Given the description of an element on the screen output the (x, y) to click on. 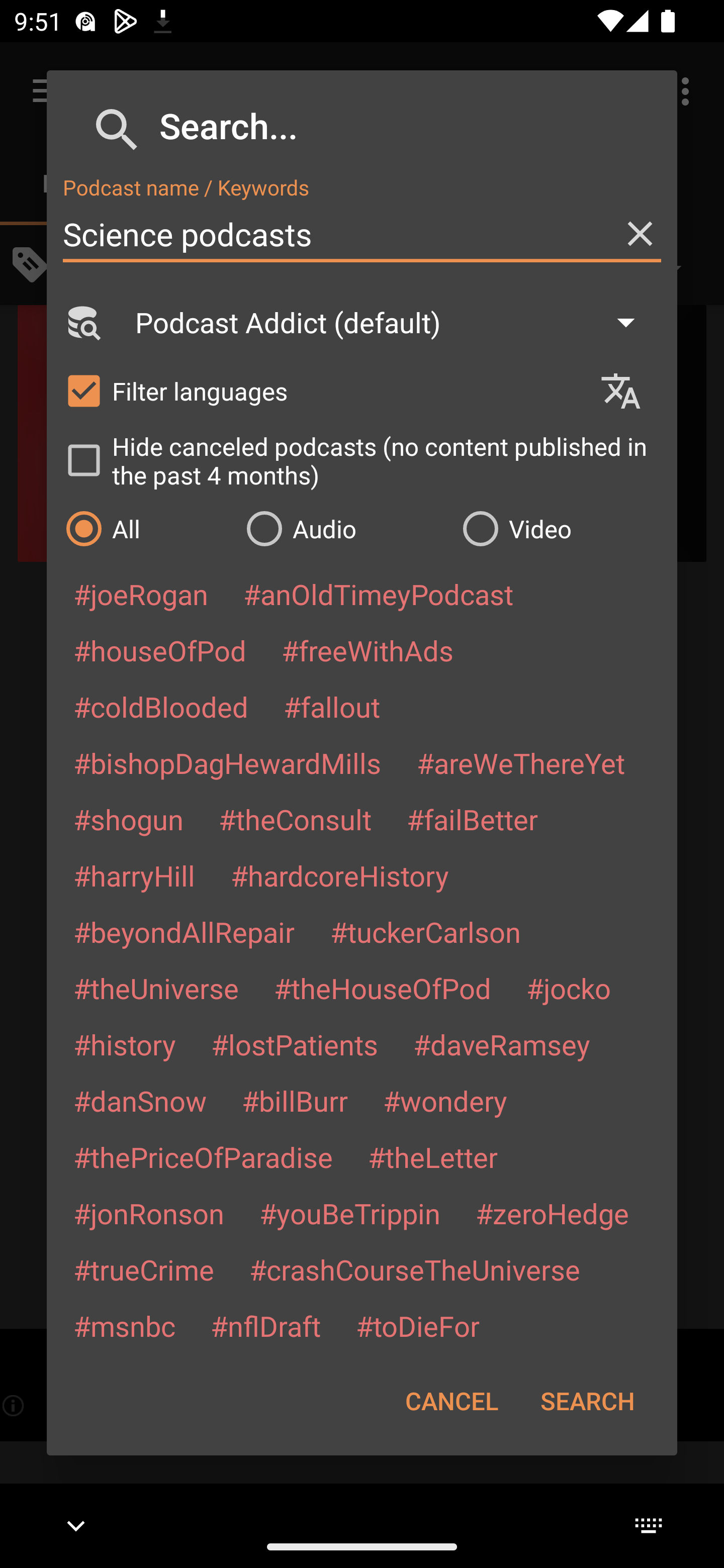
Science podcasts (361, 234)
Search Engine (82, 322)
Podcast Addict (default) (394, 322)
Languages selection (629, 390)
Filter languages (322, 390)
All (145, 528)
Audio (344, 528)
Video (560, 528)
#joeRogan (140, 594)
#anOldTimeyPodcast (378, 594)
#houseOfPod (159, 650)
#freeWithAds (367, 650)
#coldBlooded (160, 705)
#fallout (331, 705)
#bishopDagHewardMills (227, 762)
#areWeThereYet (521, 762)
#shogun (128, 818)
#theConsult (294, 818)
#failBetter (471, 818)
#harryHill (134, 875)
#hardcoreHistory (339, 875)
#beyondAllRepair (184, 931)
#tuckerCarlson (425, 931)
#theUniverse (155, 987)
#theHouseOfPod (381, 987)
#jocko (568, 987)
#history (124, 1044)
#lostPatients (294, 1044)
#daveRamsey (501, 1044)
#danSnow (139, 1100)
#billBurr (294, 1100)
#wondery (444, 1100)
#thePriceOfParadise (203, 1157)
#theLetter (432, 1157)
#jonRonson (148, 1213)
#youBeTrippin (349, 1213)
#zeroHedge (552, 1213)
#trueCrime (143, 1268)
#crashCourseTheUniverse (414, 1268)
#msnbc (124, 1325)
#nflDraft (265, 1325)
#toDieFor (417, 1325)
CANCEL (451, 1400)
SEARCH (587, 1400)
